Given the description of an element on the screen output the (x, y) to click on. 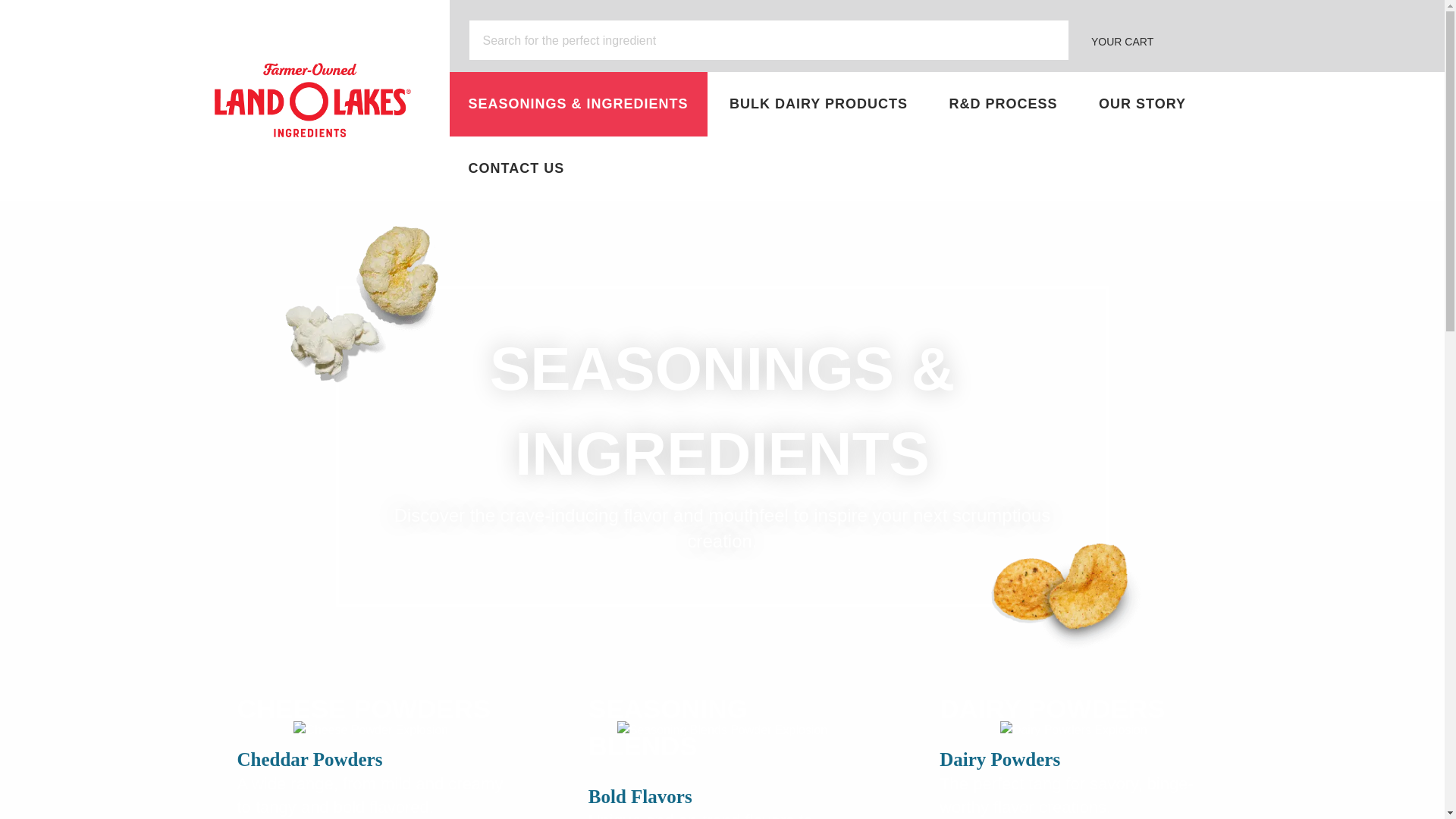
BULK DAIRY PRODUCTS (818, 104)
CONTACT US (515, 168)
OUR STORY (1142, 104)
